Given the description of an element on the screen output the (x, y) to click on. 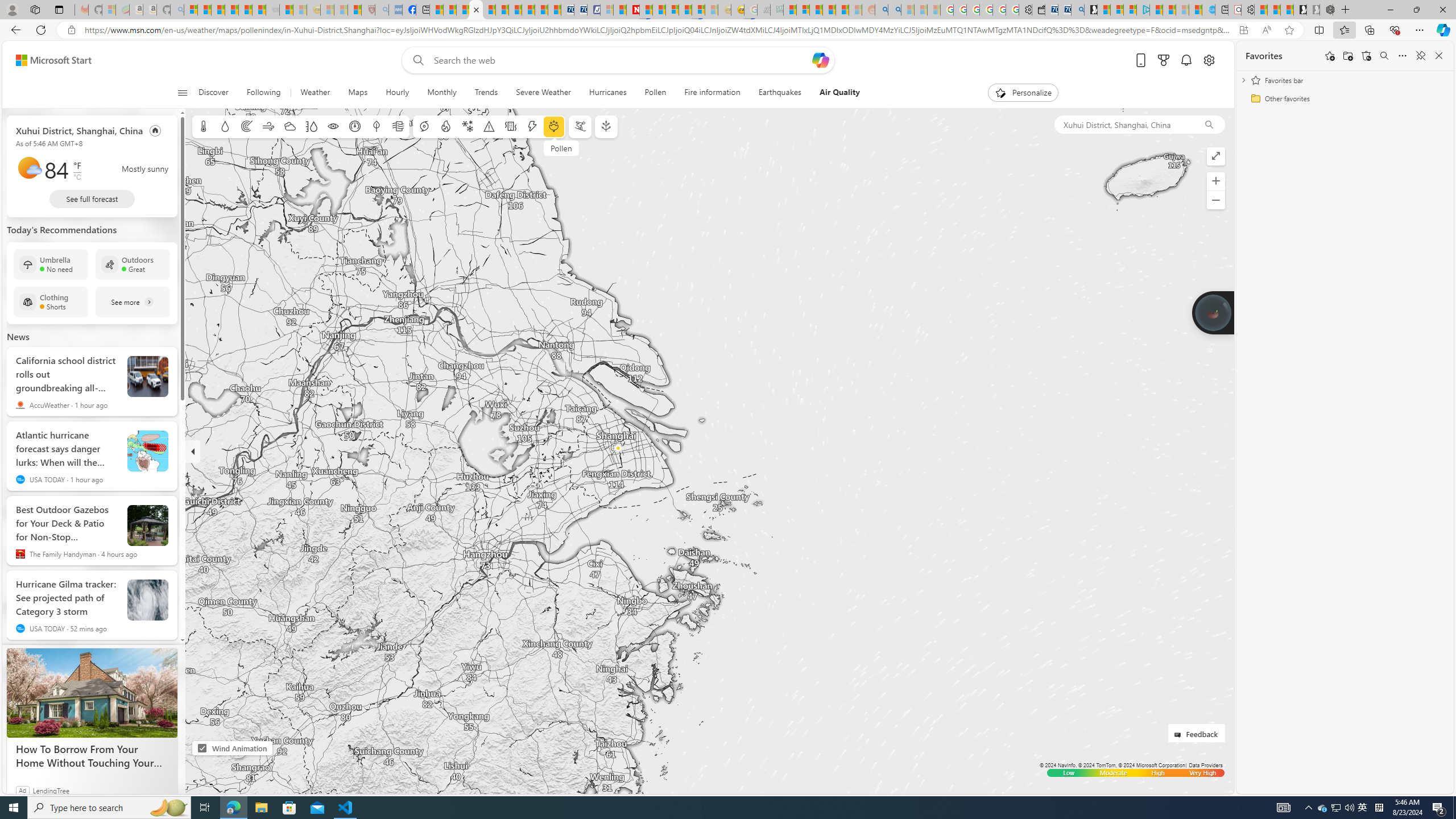
Hourly (398, 92)
Temperature (203, 126)
App available. Install Microsoft Start Weather (1243, 29)
Add this page to favorites (1330, 55)
Hurricane (423, 126)
Winter weather (467, 126)
See full forecast (92, 199)
